Given the description of an element on the screen output the (x, y) to click on. 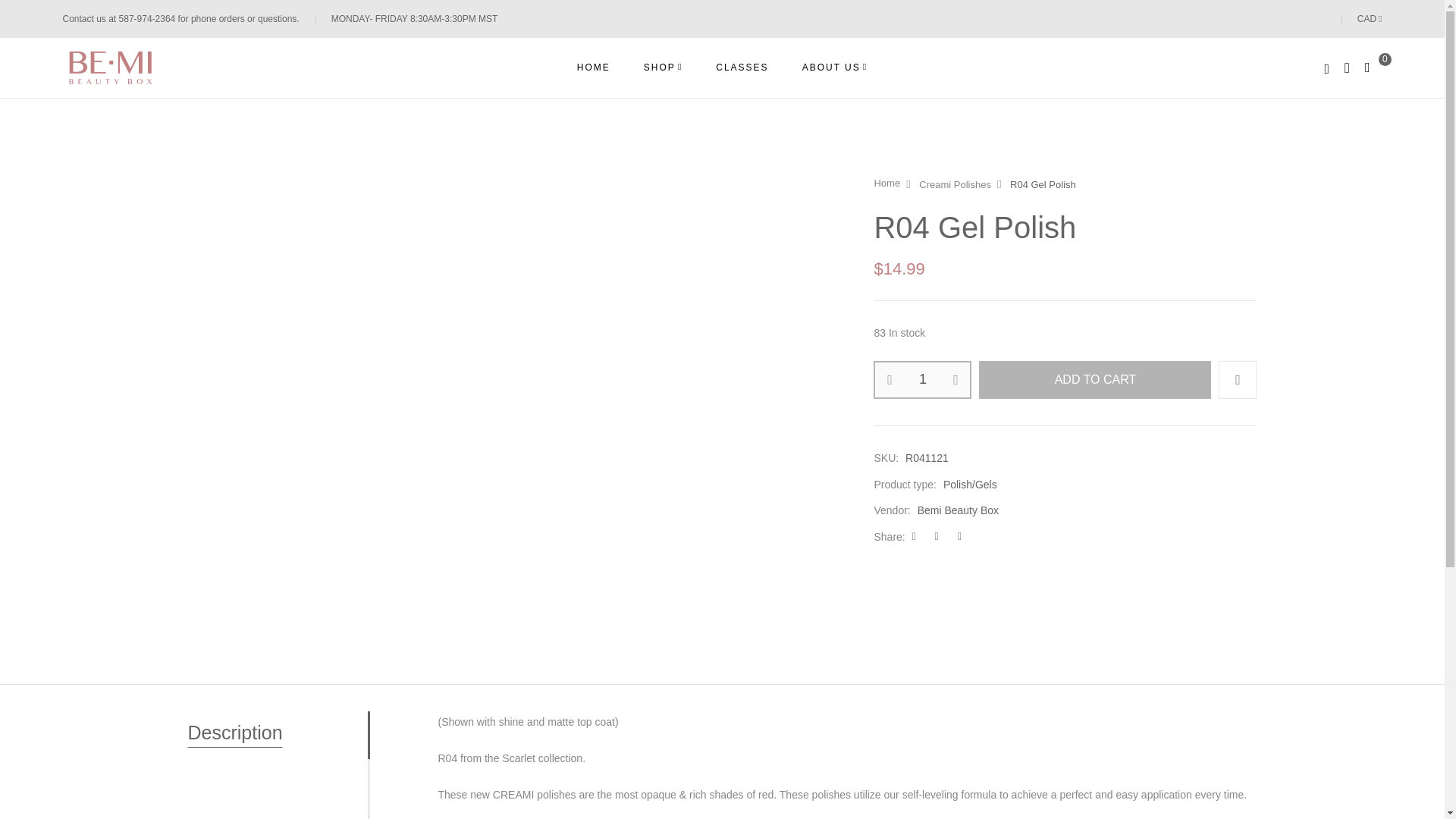
Home (593, 67)
Shop (662, 67)
1 (922, 379)
SHOP (662, 67)
CLASSES (742, 67)
HOME (593, 67)
